Given the description of an element on the screen output the (x, y) to click on. 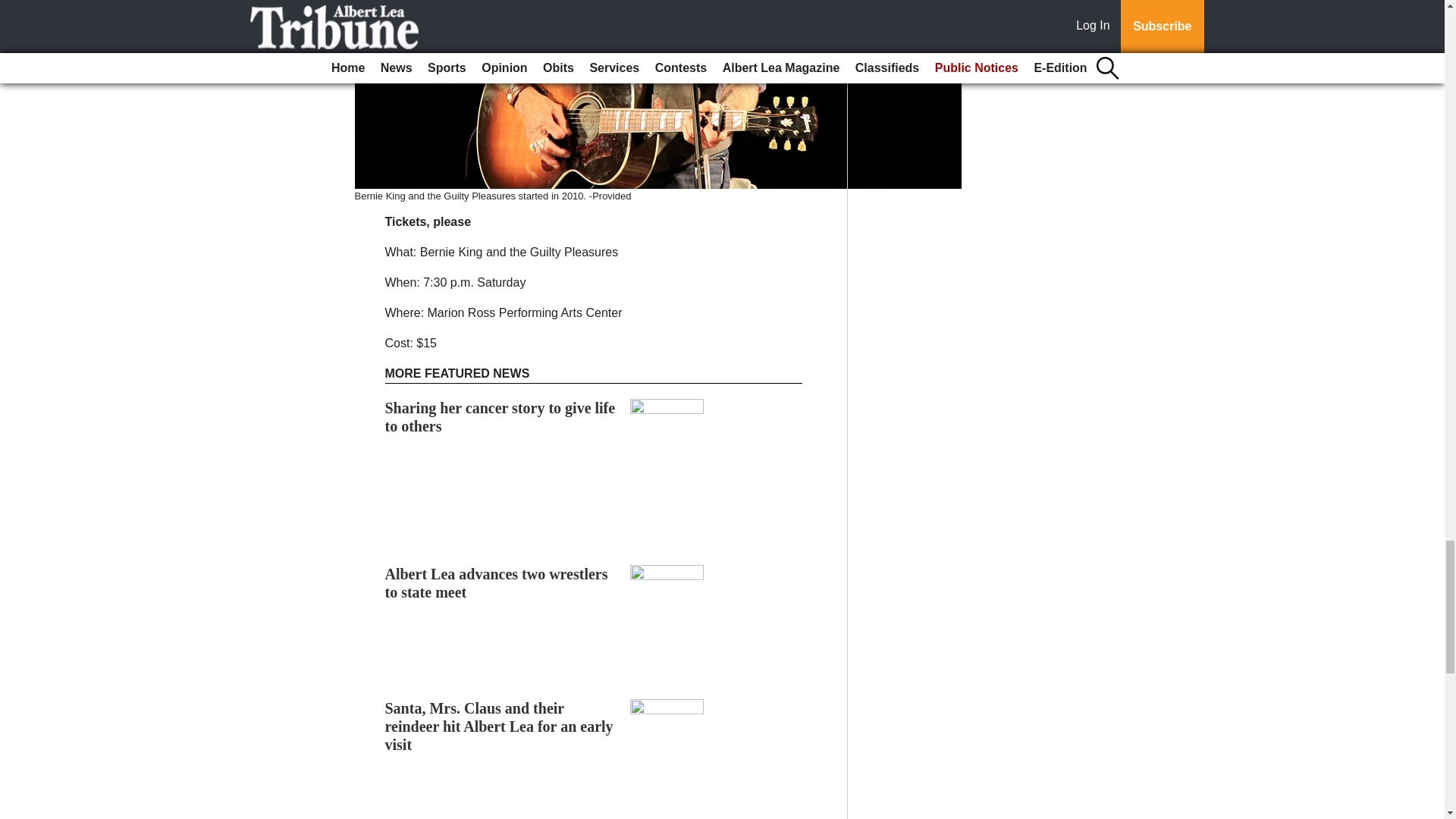
Sharing her cancer story to give life to others (500, 416)
Albert Lea advances two wrestlers to state meet (496, 582)
